Given the description of an element on the screen output the (x, y) to click on. 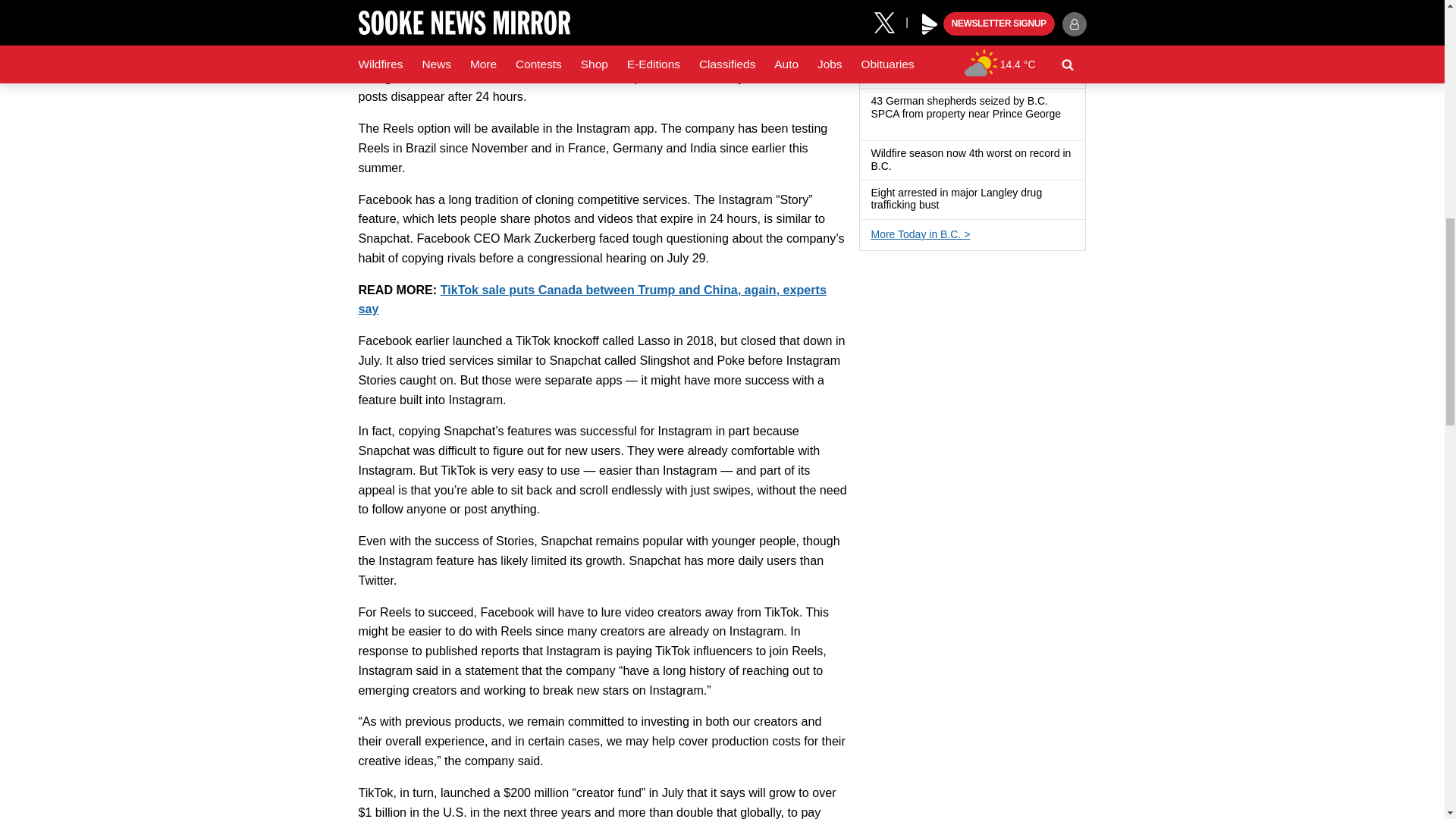
Has a gallery (876, 127)
Has a gallery (947, 205)
